Given the description of an element on the screen output the (x, y) to click on. 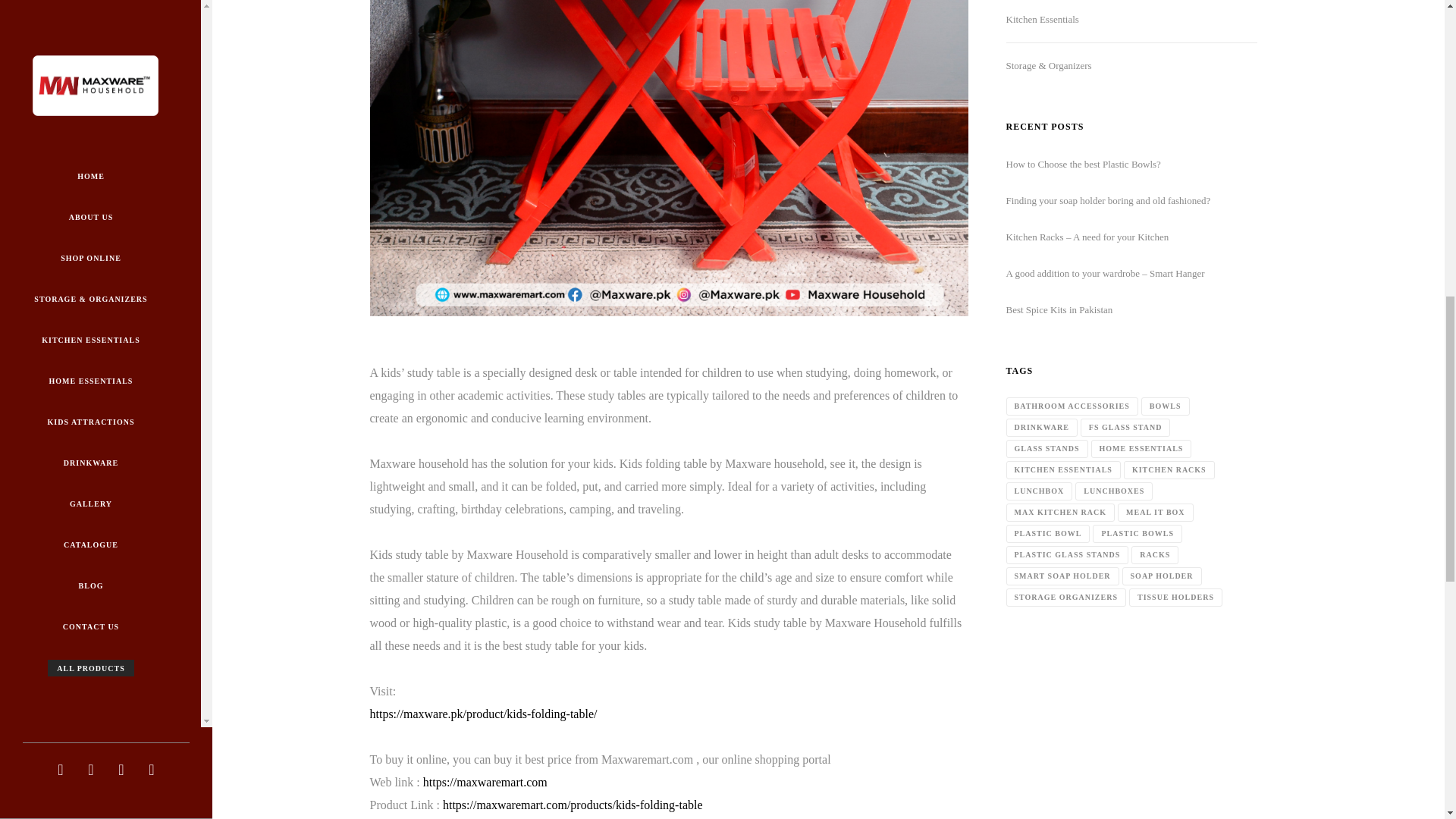
Kitchen Essentials (1042, 19)
FS GLASS STAND (1125, 427)
Best Spice Kits in Pakistan (1059, 309)
Finding your soap holder boring and old fashioned? (1107, 200)
DRINKWARE (1041, 427)
BOWLS (1165, 406)
How to Choose the best Plastic Bowls? (1083, 163)
BATHROOM ACCESSORIES (1071, 406)
